Given the description of an element on the screen output the (x, y) to click on. 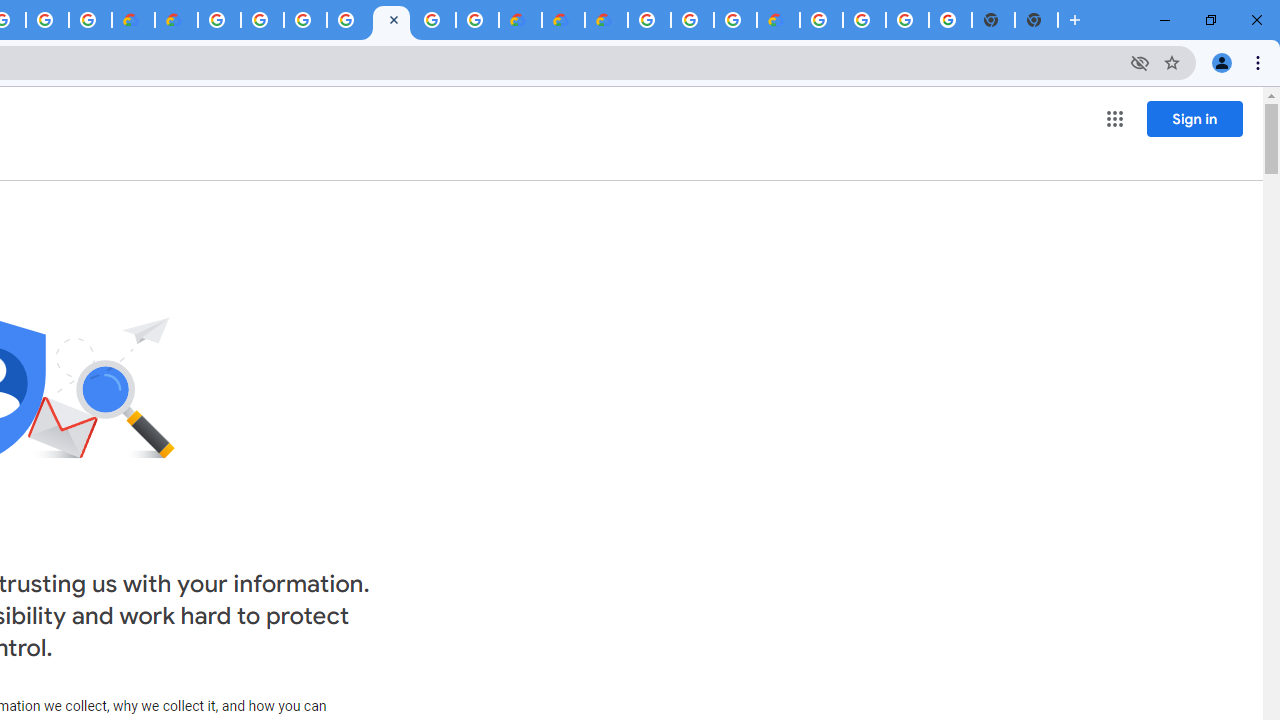
Google Cloud Platform (864, 20)
Bookmark this tab (1171, 62)
Google Cloud Estimate Summary (606, 20)
Browse Chrome as a guest - Computer - Google Chrome Help (735, 20)
You (1221, 62)
Google Cloud Platform (219, 20)
Google Workspace - Specific Terms (90, 20)
Google Cloud Platform (649, 20)
New Tab (1036, 20)
Google apps (1114, 118)
Customer Care | Google Cloud (132, 20)
